Given the description of an element on the screen output the (x, y) to click on. 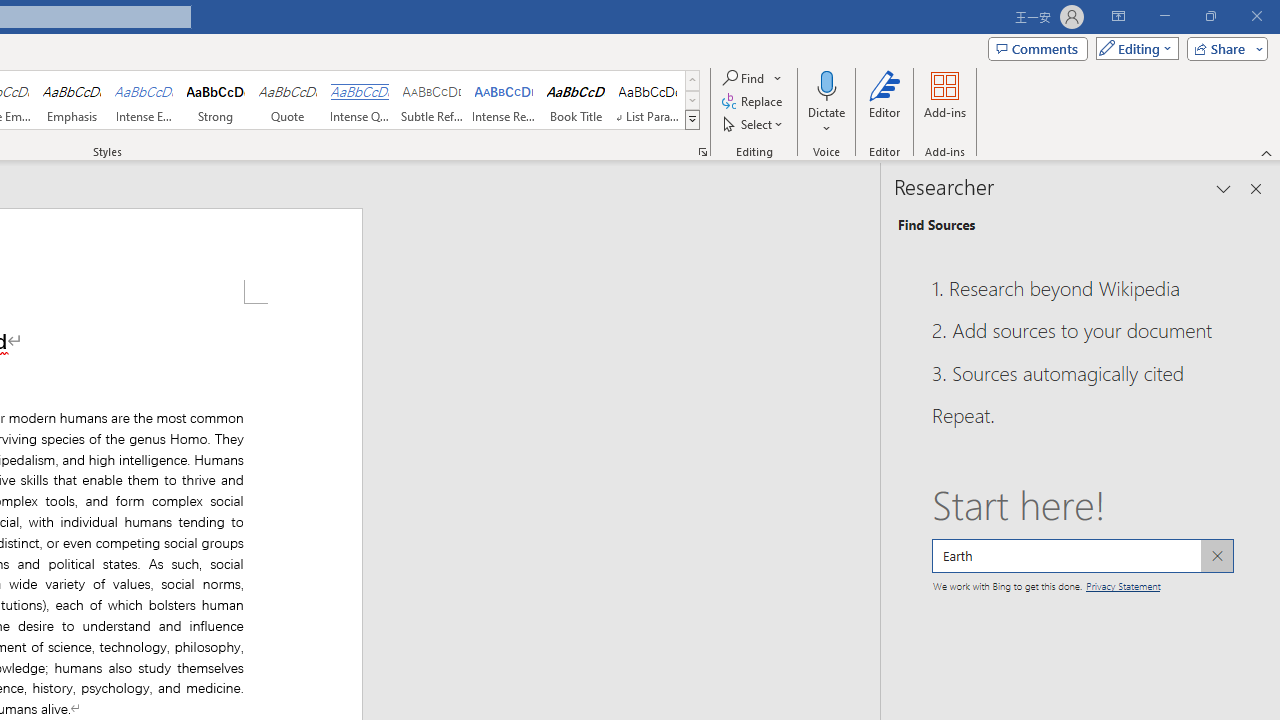
Book Title (575, 100)
Strong (216, 100)
Quote (287, 100)
Research people, events, concepts, and places (1082, 556)
